Given the description of an element on the screen output the (x, y) to click on. 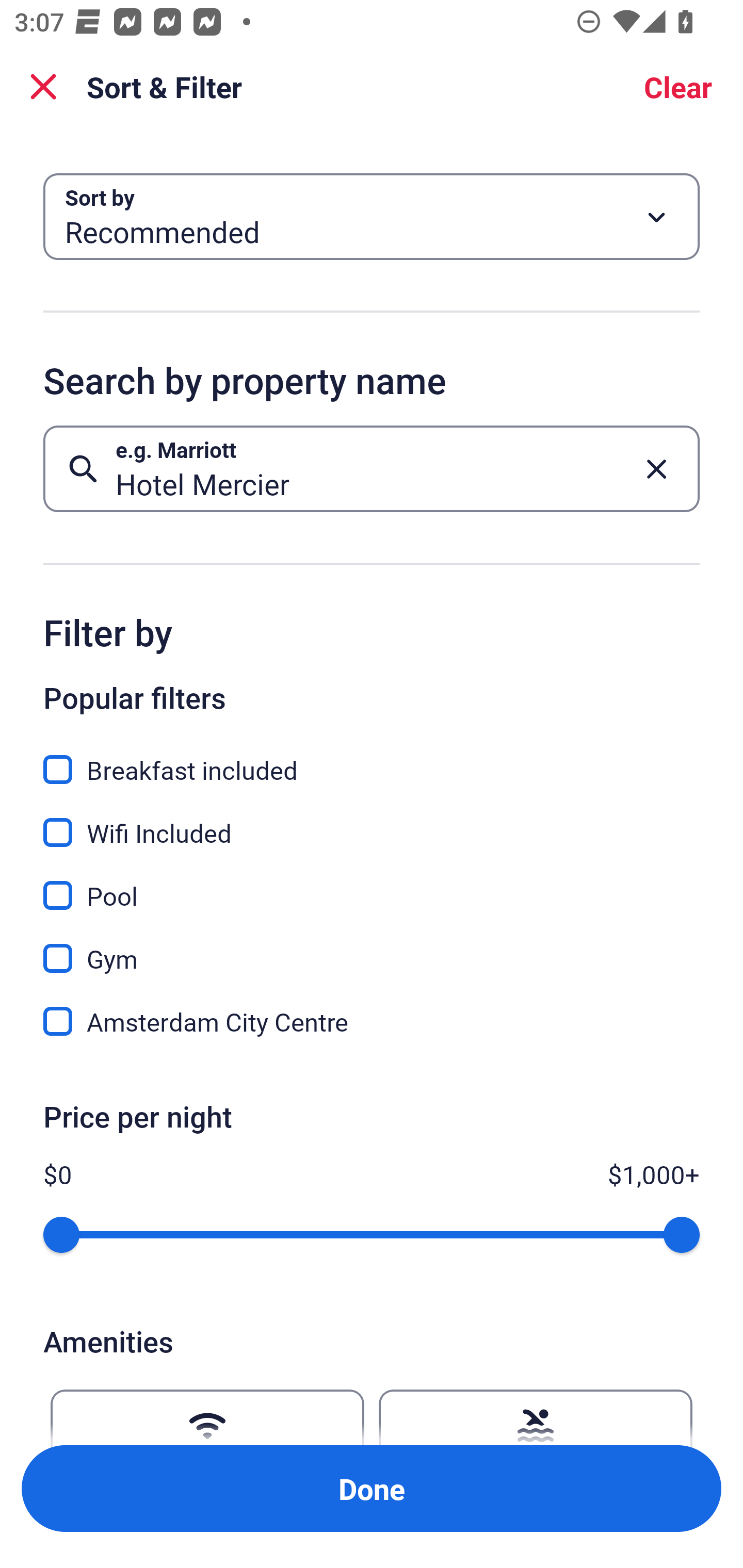
Close Sort and Filter (43, 86)
Clear (677, 86)
Sort by Button Recommended (371, 217)
e.g. Marriott Button Hotel Mercier (371, 468)
Breakfast included, Breakfast included (371, 757)
Wifi Included, Wifi Included (371, 821)
Pool, Pool (371, 883)
Gym, Gym (371, 946)
Amsterdam City Centre, Amsterdam City Centre (371, 1021)
Apply and close Sort and Filter Done (371, 1488)
